Given the description of an element on the screen output the (x, y) to click on. 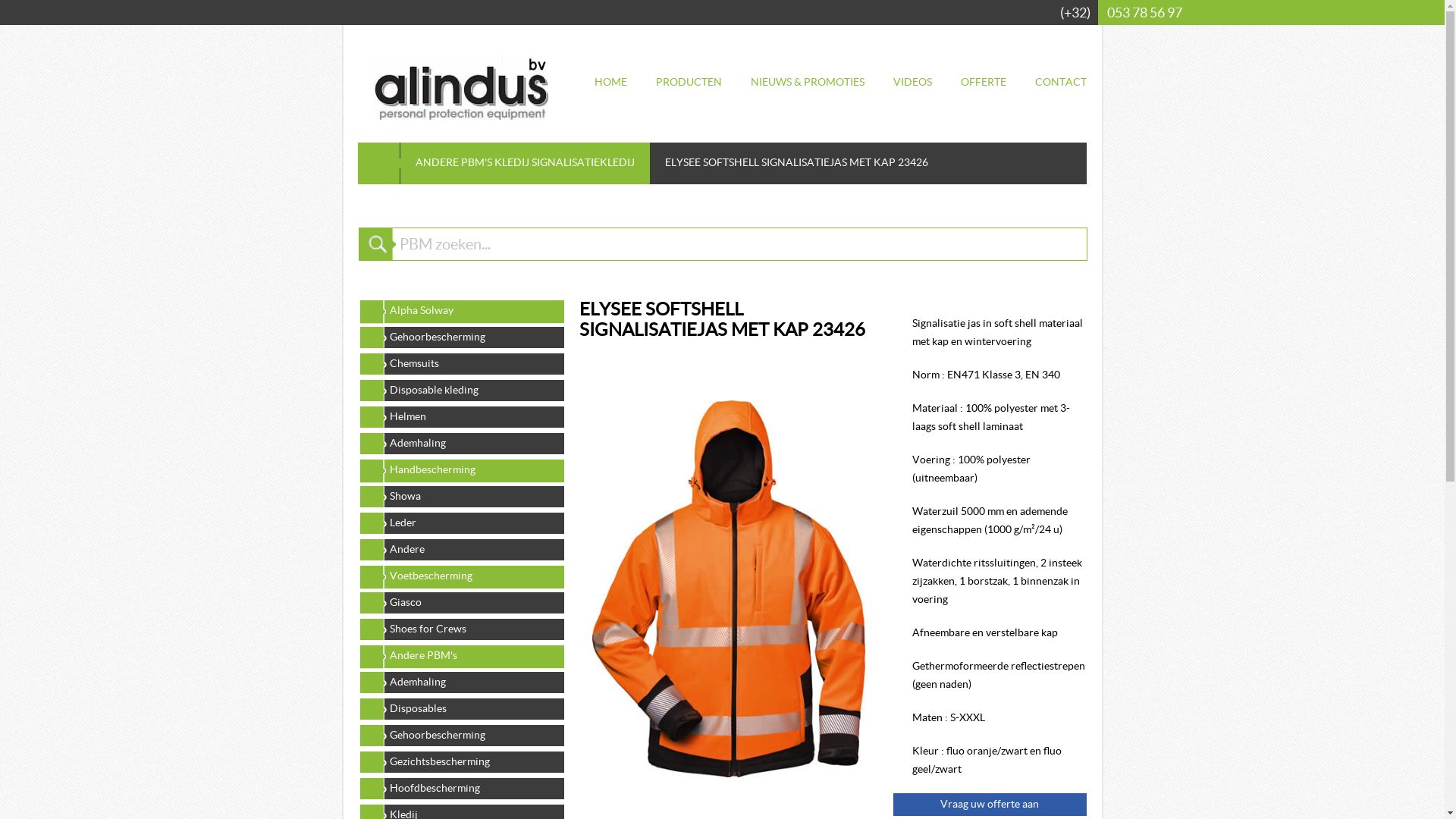
Gehoorbescherming Element type: text (460, 734)
Ademhaling Element type: text (460, 442)
Andere PBM's Element type: text (460, 654)
Ademhaling Element type: text (460, 681)
PRODUCTEN Element type: text (688, 81)
VIDEOS Element type: text (912, 81)
CONTACT Element type: text (1059, 81)
Showa Element type: text (460, 495)
Hoofdbescherming Element type: text (460, 787)
Vraag uw offerte aan Element type: text (989, 803)
Giasco Element type: text (460, 601)
Voetbescherming Element type: text (460, 575)
KLEDIJ Element type: text (511, 162)
Helmen Element type: text (460, 415)
Zoeken Element type: text (376, 243)
SIGNALISATIEKLEDIJ Element type: text (581, 162)
Disposables Element type: text (460, 707)
Shoes for Crews Element type: text (460, 628)
Disposable kleding Element type: text (460, 389)
Gezichtsbescherming Element type: text (460, 760)
ANDERE PBM'S Element type: text (453, 162)
Andere Element type: text (460, 548)
Chemsuits Element type: text (460, 362)
HOME Element type: text (610, 81)
ELYSEE SOFTSHELL SIGNALISATIEJAS MET KAP 23426 Element type: hover (727, 588)
PBM zoeken... Element type: text (738, 243)
Leder Element type: text (460, 522)
OFFERTE Element type: text (982, 81)
Alpha Solway Element type: text (460, 309)
NIEUWS & PROMOTIES Element type: text (807, 81)
Handbescherming Element type: text (460, 469)
Gehoorbescherming Element type: text (460, 336)
